Given the description of an element on the screen output the (x, y) to click on. 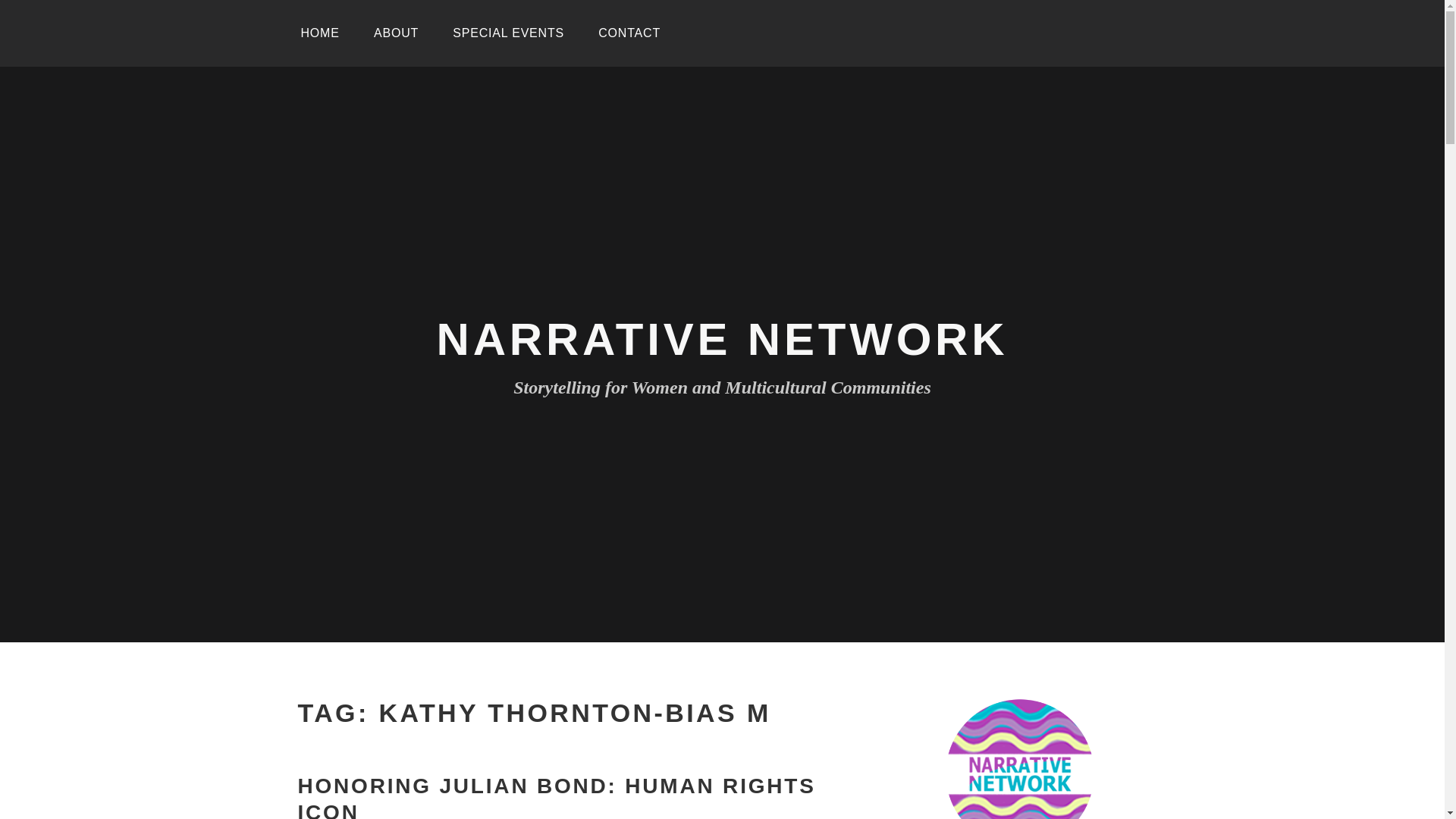
SPECIAL EVENTS (508, 33)
ABOUT (395, 33)
HOME (319, 33)
HONORING JULIAN BOND: HUMAN RIGHTS ICON (556, 796)
CONTACT (629, 33)
NARRATIVE NETWORK (722, 338)
